Given the description of an element on the screen output the (x, y) to click on. 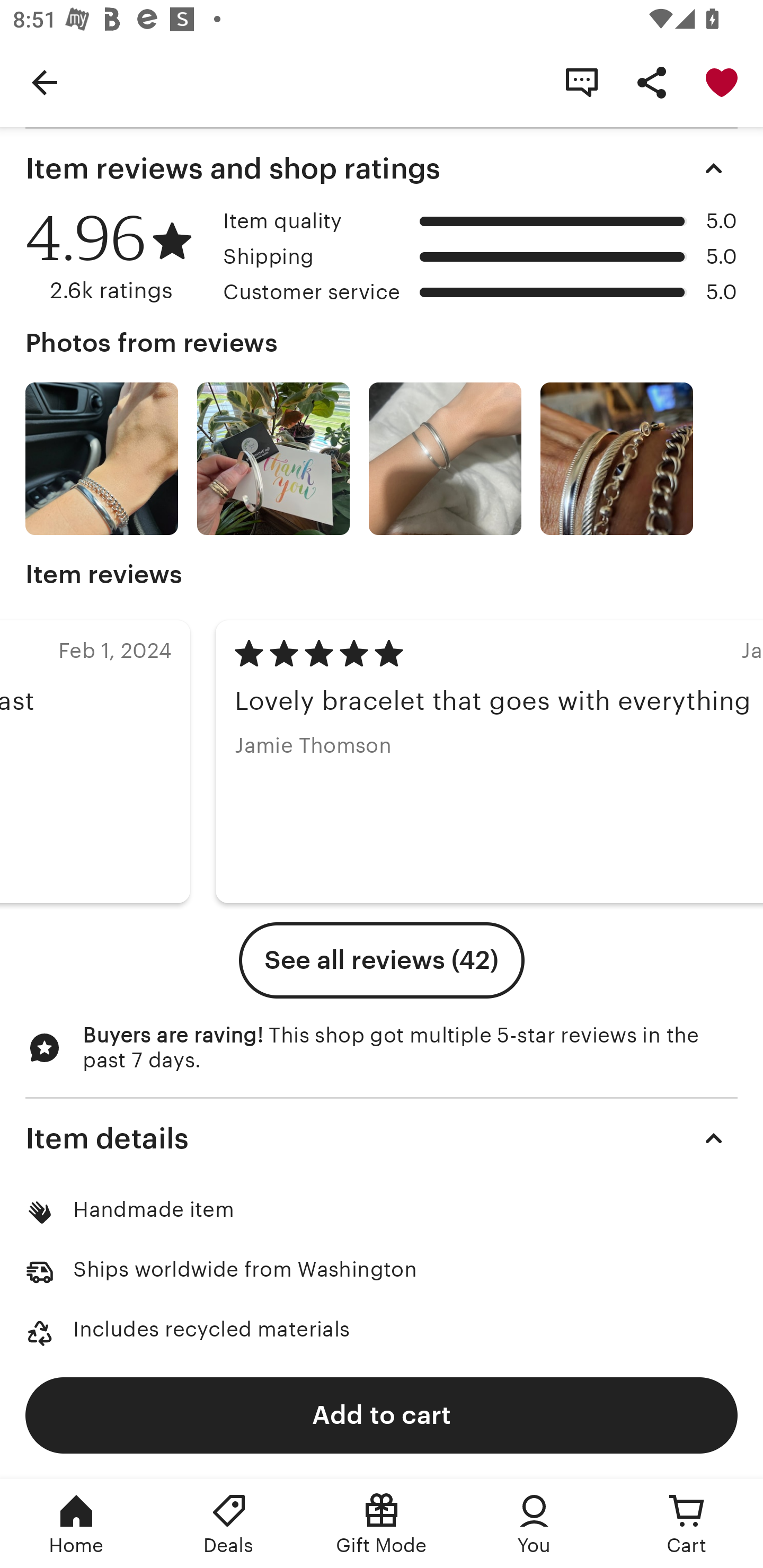
Navigate up (44, 81)
Contact shop (581, 81)
Share (651, 81)
Item reviews and shop ratings (381, 168)
4.96 2.6k ratings (117, 257)
Photo from review (101, 458)
Photo from review (272, 458)
Photo from review (444, 458)
Photo from review (616, 458)
See all reviews (42) (381, 959)
Item details (381, 1138)
Add to cart (381, 1414)
Deals (228, 1523)
Gift Mode (381, 1523)
You (533, 1523)
Cart (686, 1523)
